Given the description of an element on the screen output the (x, y) to click on. 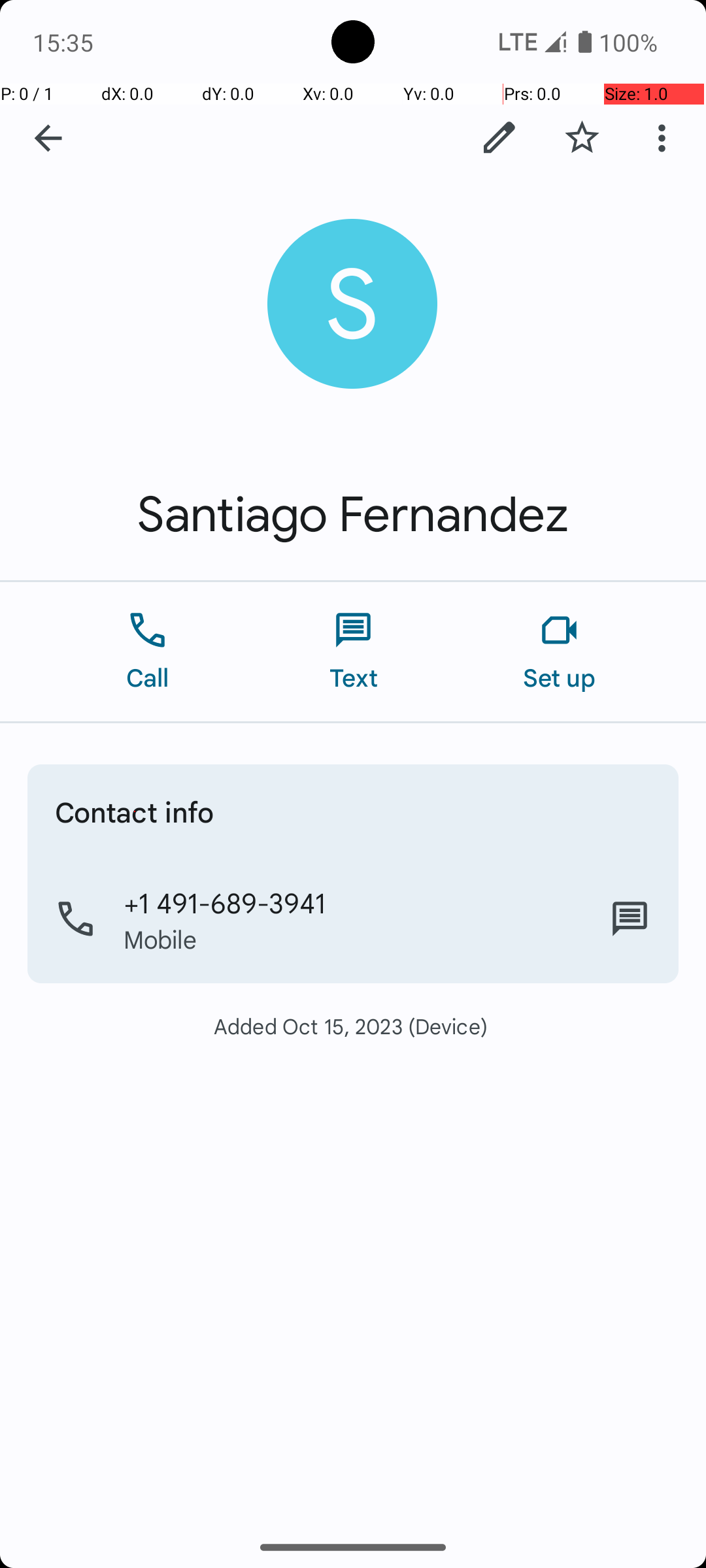
Set up Element type: android.widget.TextView (559, 651)
Santiago Fernandez Element type: android.widget.TextView (352, 514)
Call Mobile +1 491-689-3941 Element type: android.widget.RelativeLayout (352, 919)
Added Oct 15, 2023 (Device)  Element type: android.widget.TextView (352, 1025)
+1 491-689-3941 Element type: android.widget.TextView (224, 901)
Text Mobile +1 491-689-3941 Element type: android.widget.Button (629, 919)
